Given the description of an element on the screen output the (x, y) to click on. 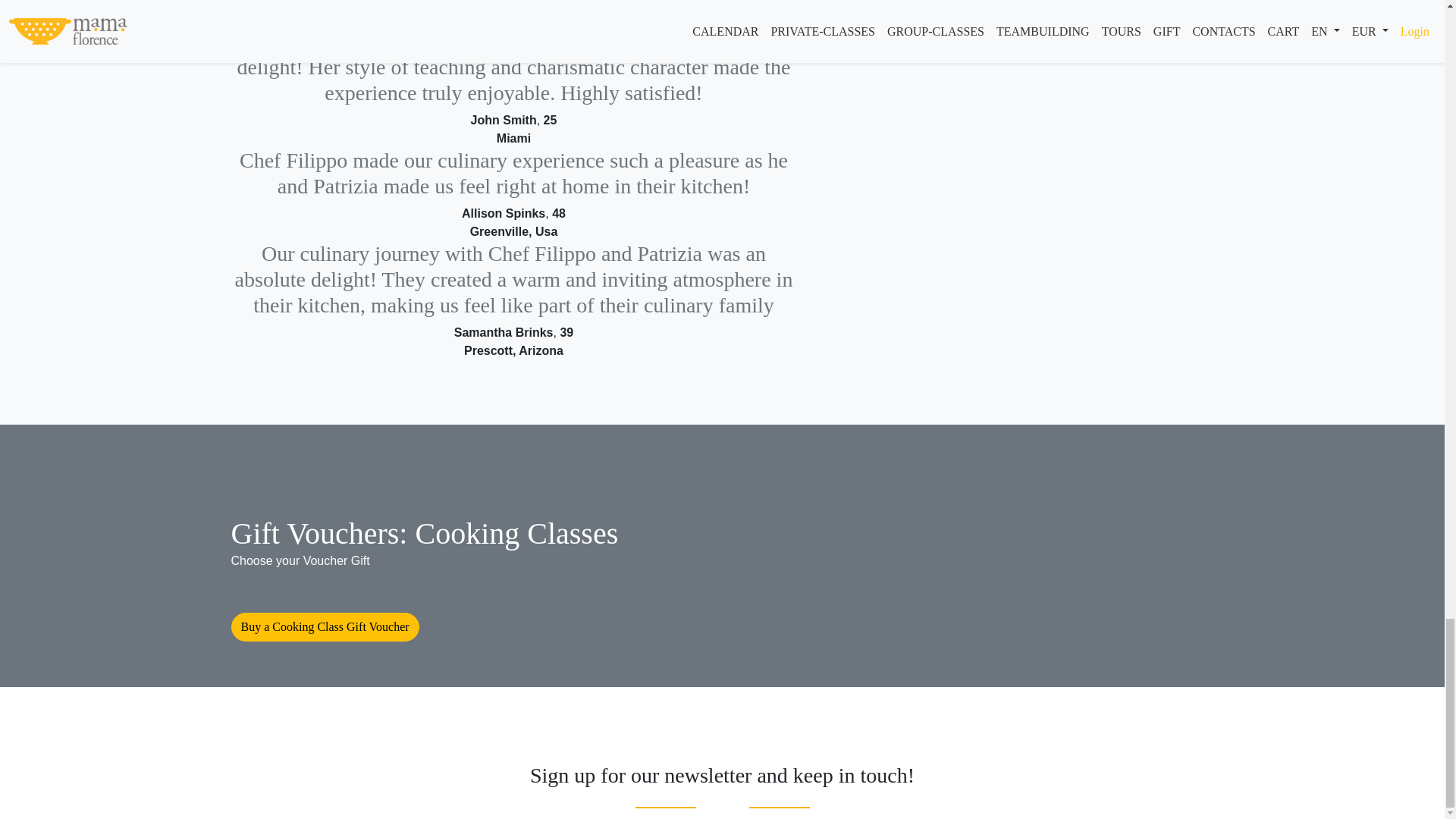
Buy a Cooking Class Gift Voucher (324, 626)
